Given the description of an element on the screen output the (x, y) to click on. 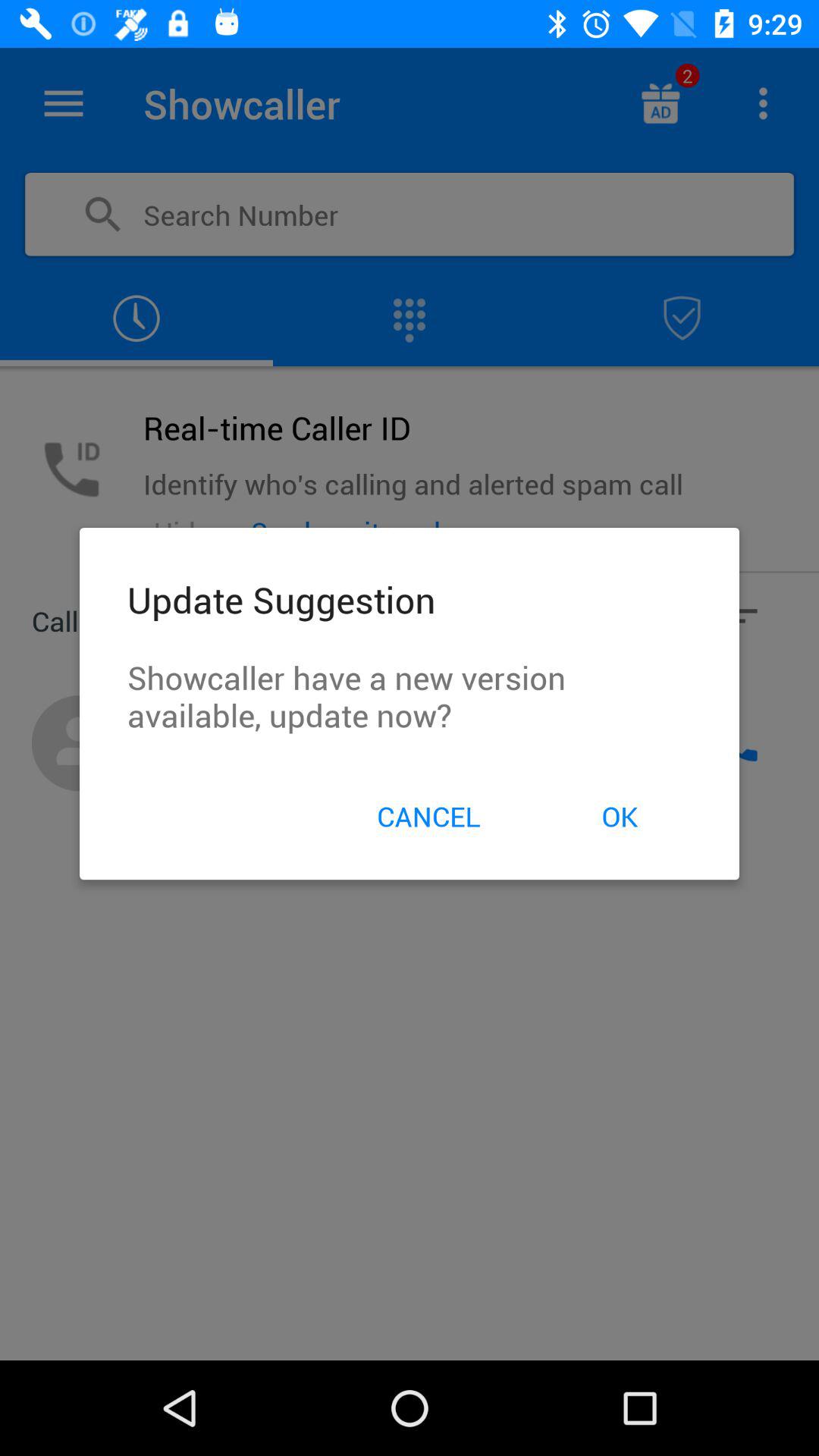
choose the item to the right of the cancel (619, 815)
